Given the description of an element on the screen output the (x, y) to click on. 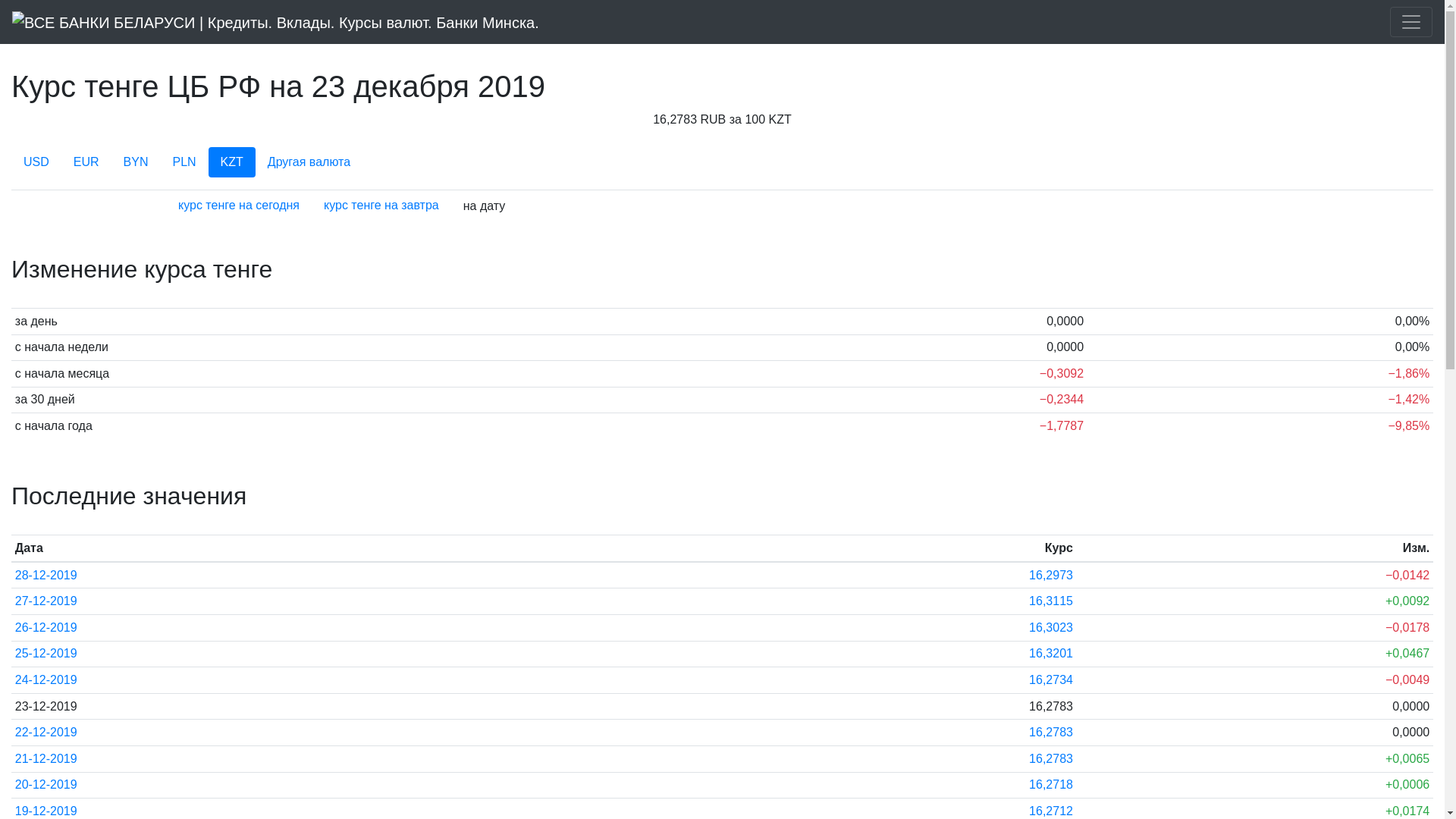
27-12-2019 Element type: text (46, 600)
16,3115 Element type: text (1051, 600)
19-12-2019 Element type: text (46, 810)
25-12-2019 Element type: text (46, 652)
BYN Element type: text (135, 162)
16,2783 Element type: text (1051, 758)
20-12-2019 Element type: text (46, 784)
16,2712 Element type: text (1051, 810)
16,3023 Element type: text (1051, 627)
16,2973 Element type: text (1051, 574)
16,2734 Element type: text (1051, 679)
28-12-2019 Element type: text (46, 574)
16,2783 Element type: text (1051, 731)
PLN Element type: text (183, 162)
26-12-2019 Element type: text (46, 627)
EUR Element type: text (86, 162)
21-12-2019 Element type: text (46, 758)
22-12-2019 Element type: text (46, 731)
16,3201 Element type: text (1051, 652)
24-12-2019 Element type: text (46, 679)
USD Element type: text (36, 162)
16,2718 Element type: text (1051, 784)
